Given the description of an element on the screen output the (x, y) to click on. 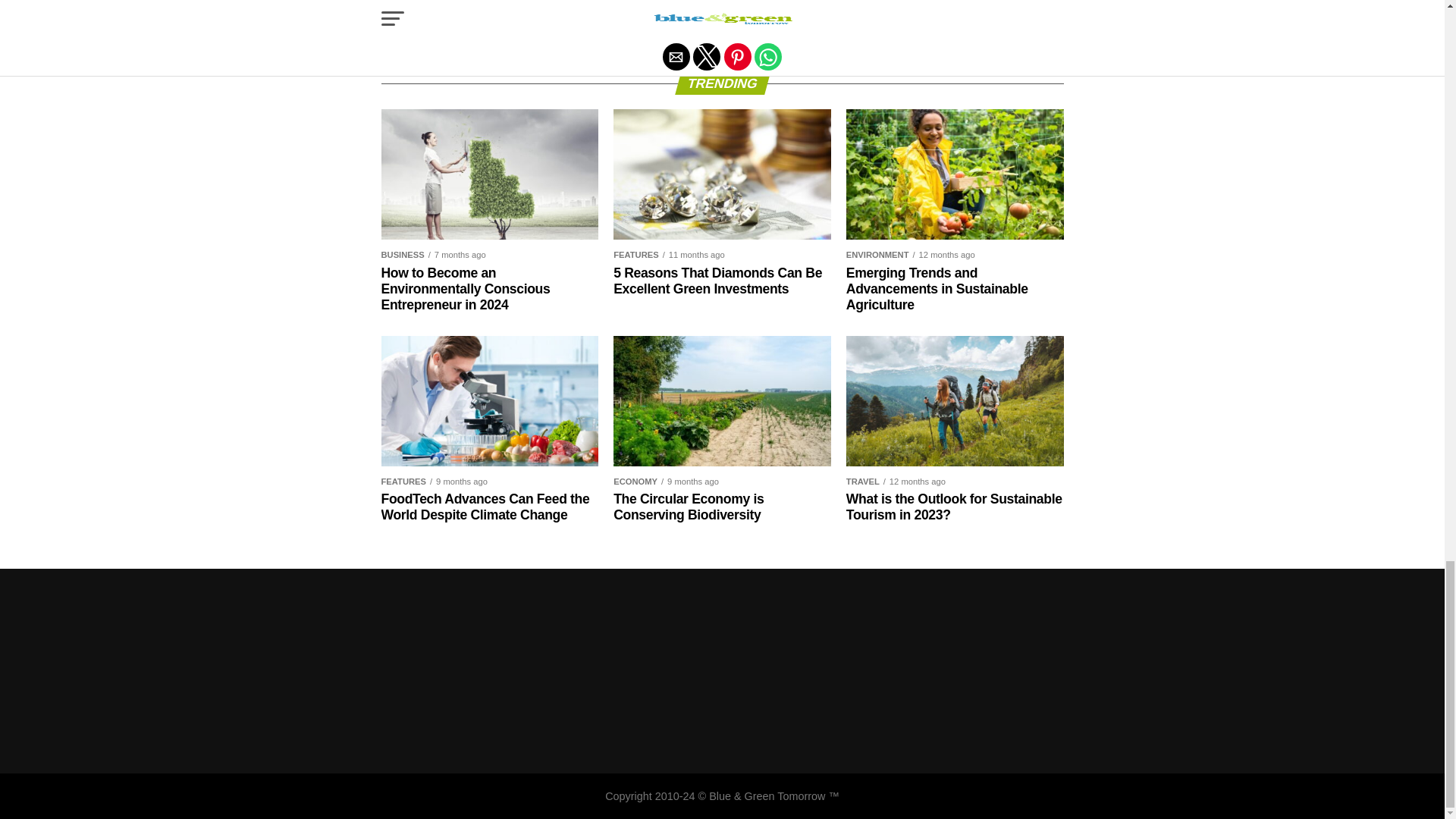
GREENHOUSE (915, 5)
TIDAL (715, 19)
MPS (397, 19)
FOOD (714, 5)
GAS (751, 5)
UN (751, 19)
ENERGY (665, 5)
ED DAVEY (606, 5)
WEATHER (796, 19)
SMART METERS (597, 19)
GLOBAL WARMING (821, 5)
POLLUTION (449, 19)
INVESTMENT (994, 5)
CLIMATE CHANGE (525, 5)
WMO (898, 19)
